Given the description of an element on the screen output the (x, y) to click on. 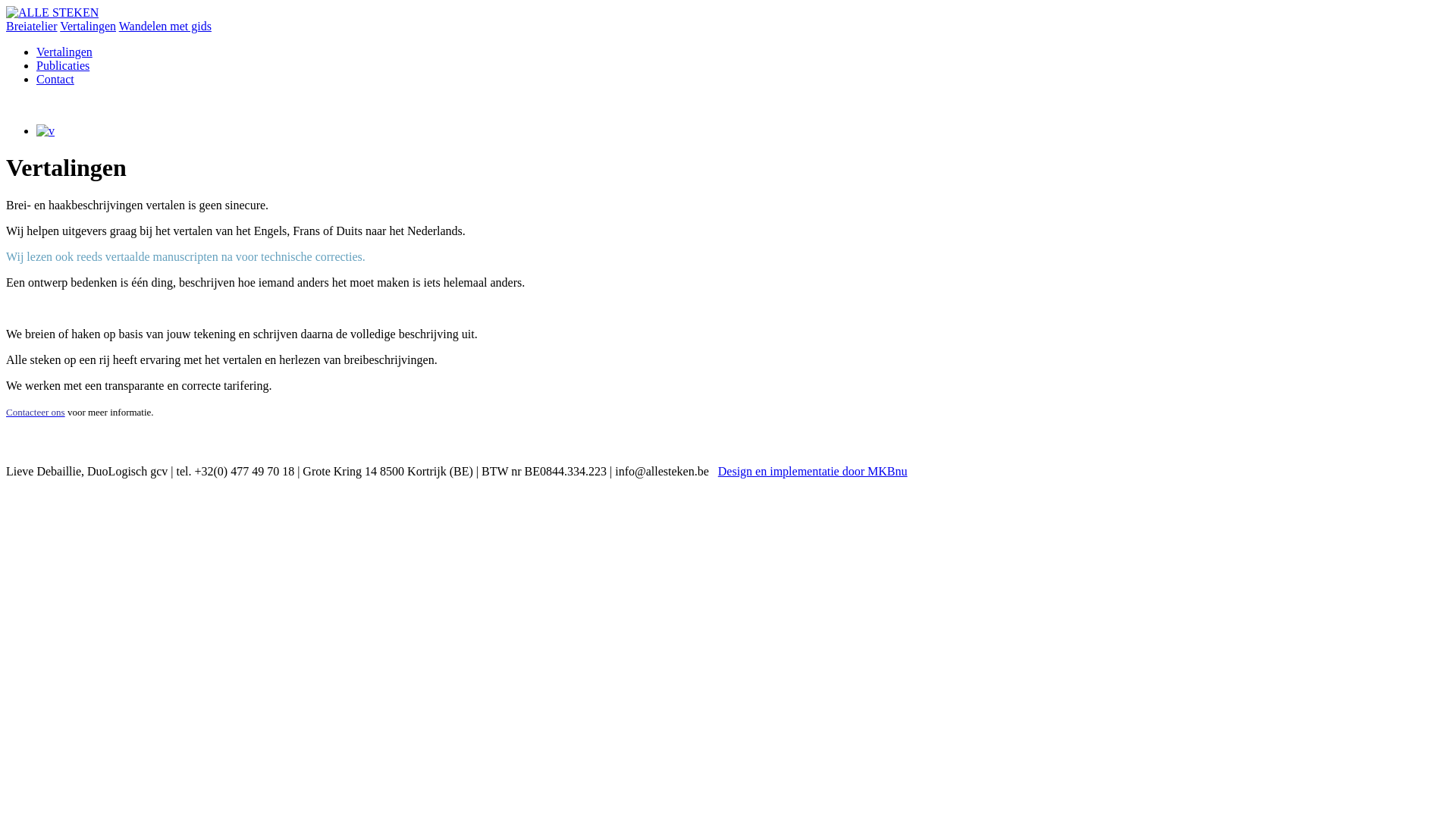
Contacteer ons Element type: text (35, 411)
ALLE STEKEN Element type: hover (52, 12)
Publicaties Element type: text (62, 65)
Breiatelier Element type: text (31, 25)
Vertalingen Element type: text (64, 51)
Contact Element type: text (55, 78)
Wandelen met gids Element type: text (165, 25)
Design en implementatie door MKBnu Element type: text (812, 470)
Vertalingen Element type: text (87, 25)
